Given the description of an element on the screen output the (x, y) to click on. 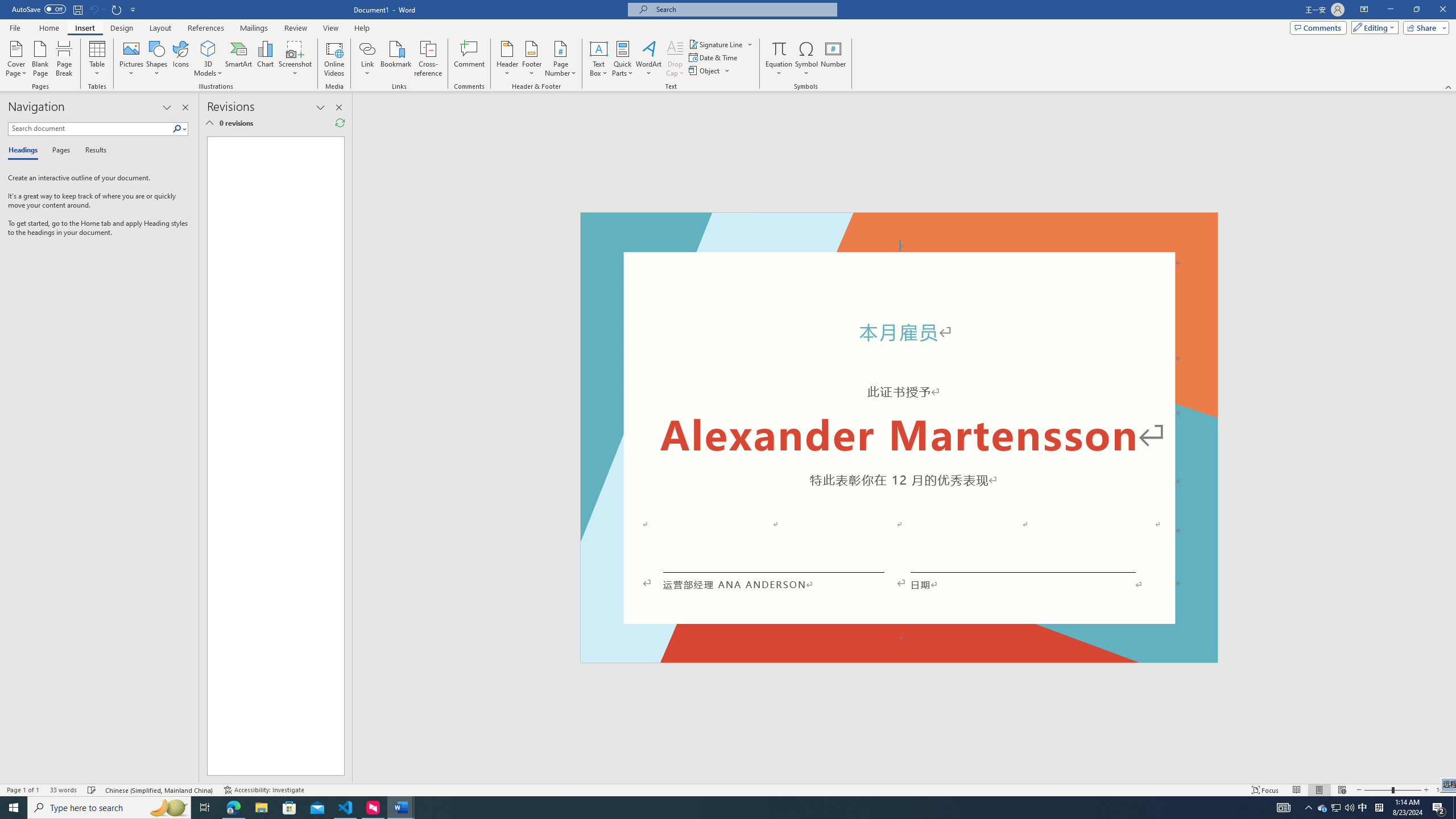
Page Number (560, 58)
Date & Time... (714, 56)
Online Videos... (333, 58)
Cover Page (16, 58)
Page Number Page 1 of 1 (22, 790)
Signature Line (716, 44)
Signature Line (721, 44)
